Given the description of an element on the screen output the (x, y) to click on. 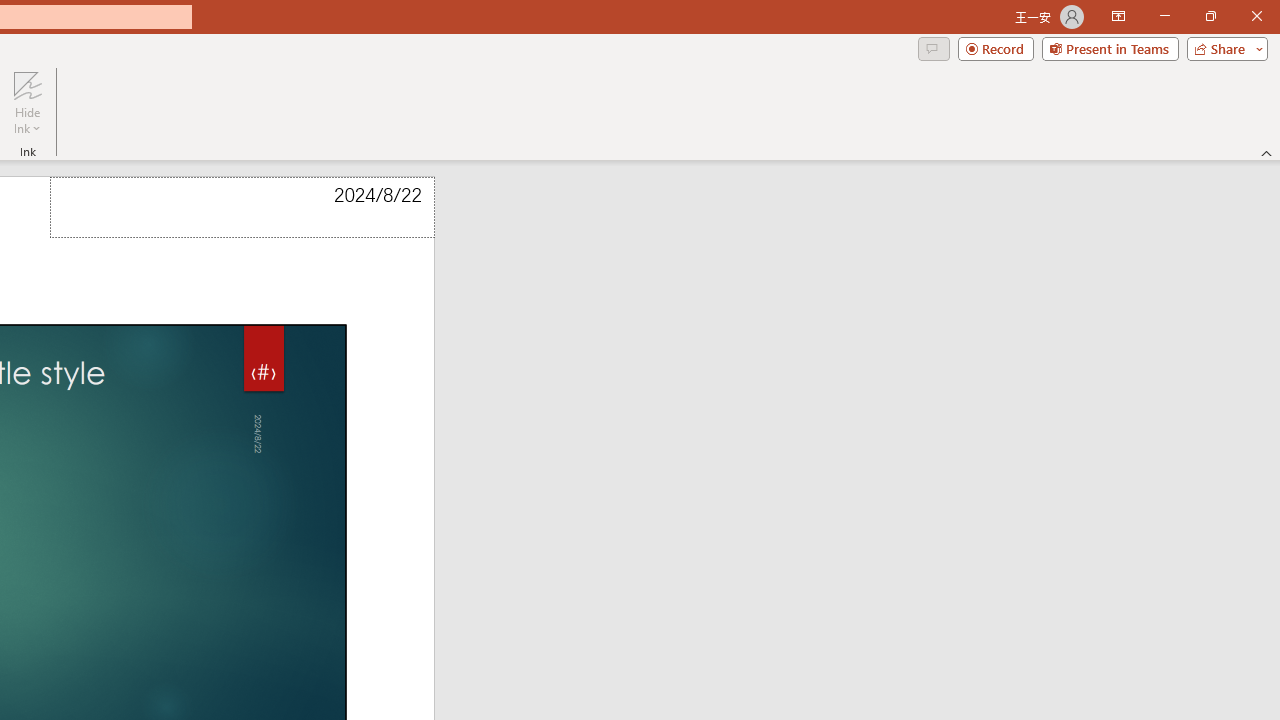
Date (242, 207)
